Given the description of an element on the screen output the (x, y) to click on. 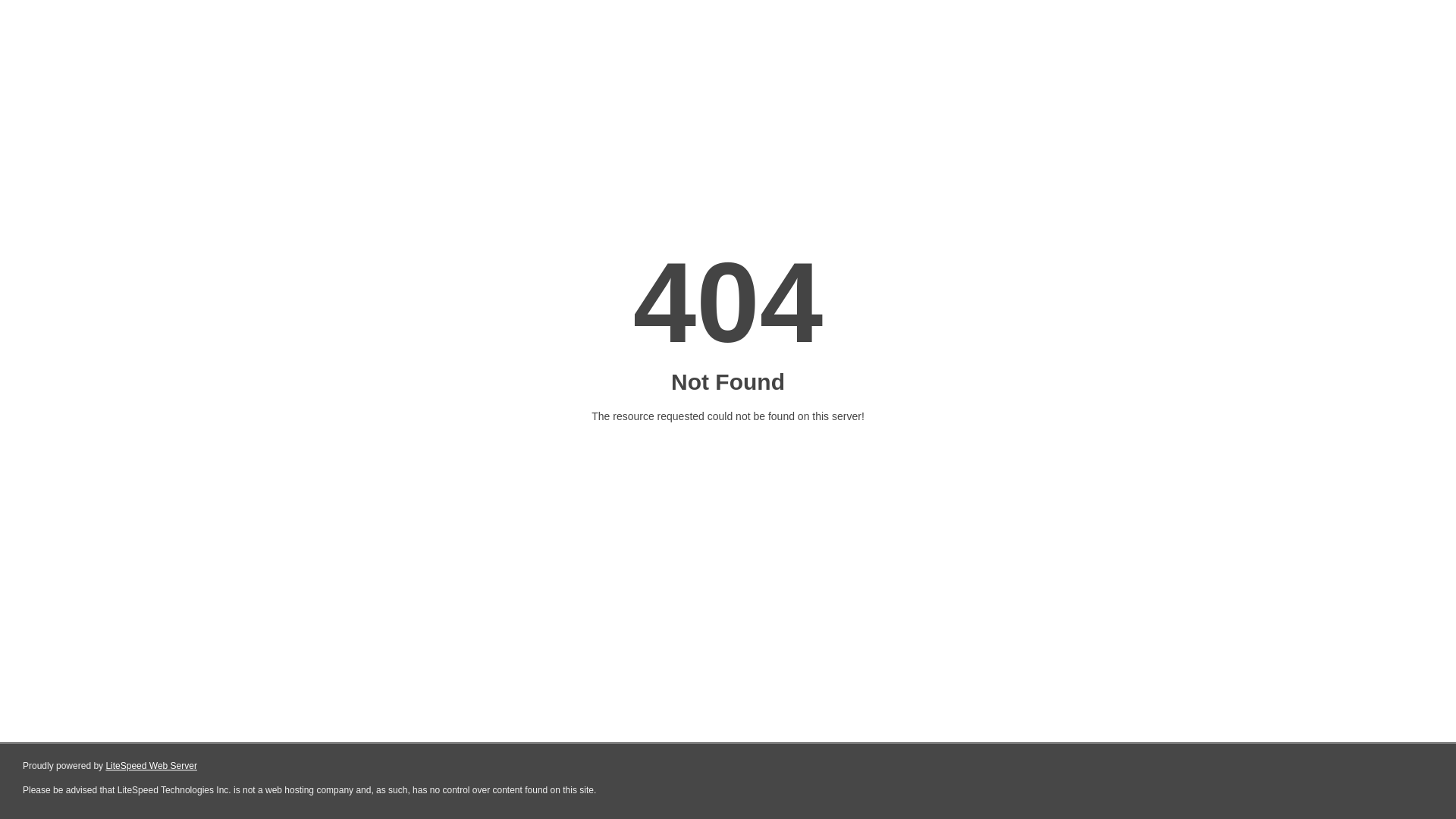
LiteSpeed Web Server Element type: text (151, 765)
